Given the description of an element on the screen output the (x, y) to click on. 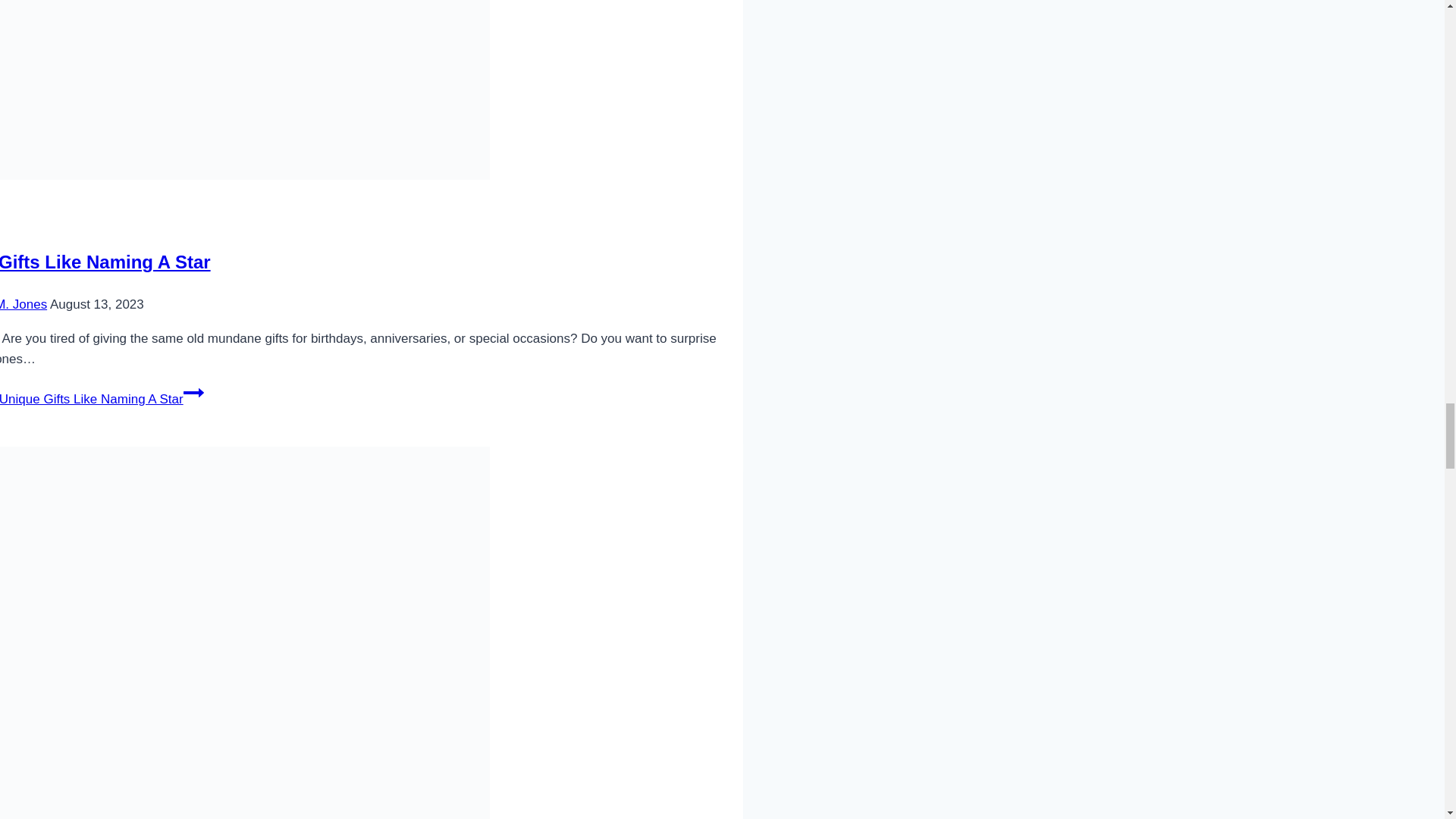
Continue (193, 392)
Unique Gifts Like Naming A Star (105, 261)
Adriana M. Jones (23, 304)
Read More Unique Gifts Like Naming A StarContinue (101, 399)
